Given the description of an element on the screen output the (x, y) to click on. 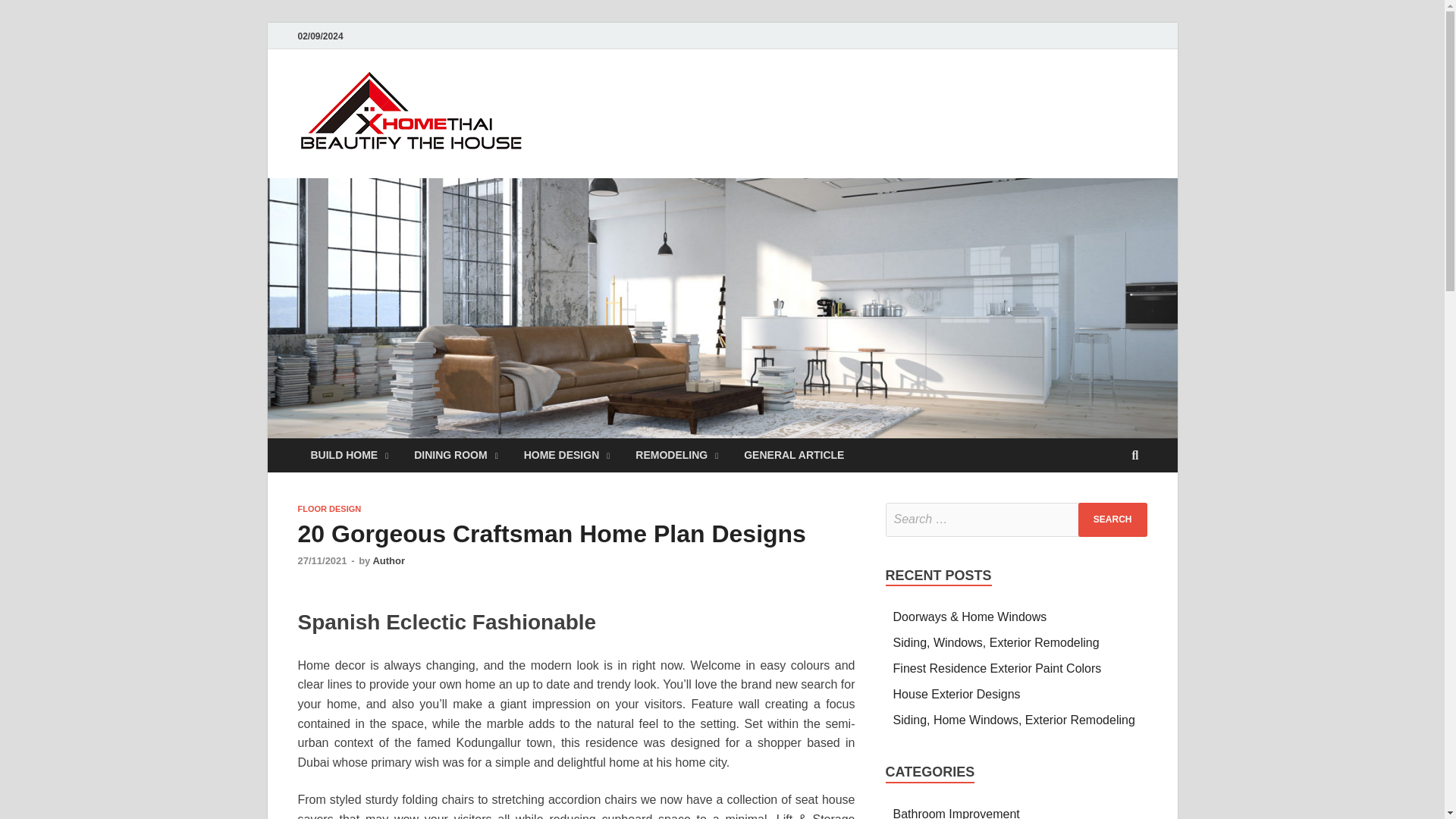
Author (388, 560)
Search (1112, 519)
GENERAL ARTICLE (793, 455)
BUILD HOME (349, 455)
Search (1112, 519)
REMODELING (676, 455)
FLOOR DESIGN (329, 508)
HOME DESIGN (567, 455)
homethai.net (621, 100)
DINING ROOM (456, 455)
